Given the description of an element on the screen output the (x, y) to click on. 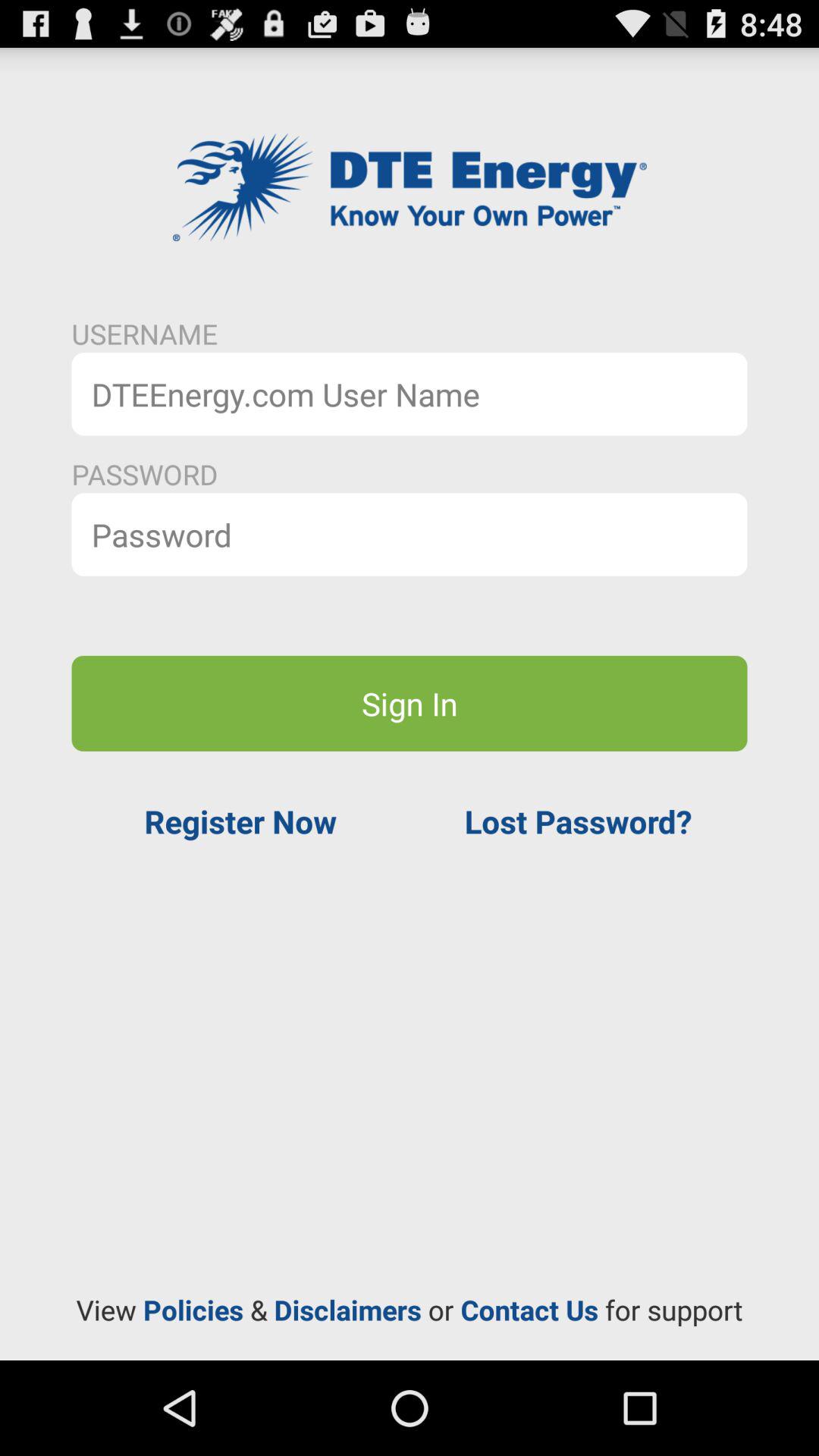
press the item above the view policies disclaimers app (578, 820)
